Given the description of an element on the screen output the (x, y) to click on. 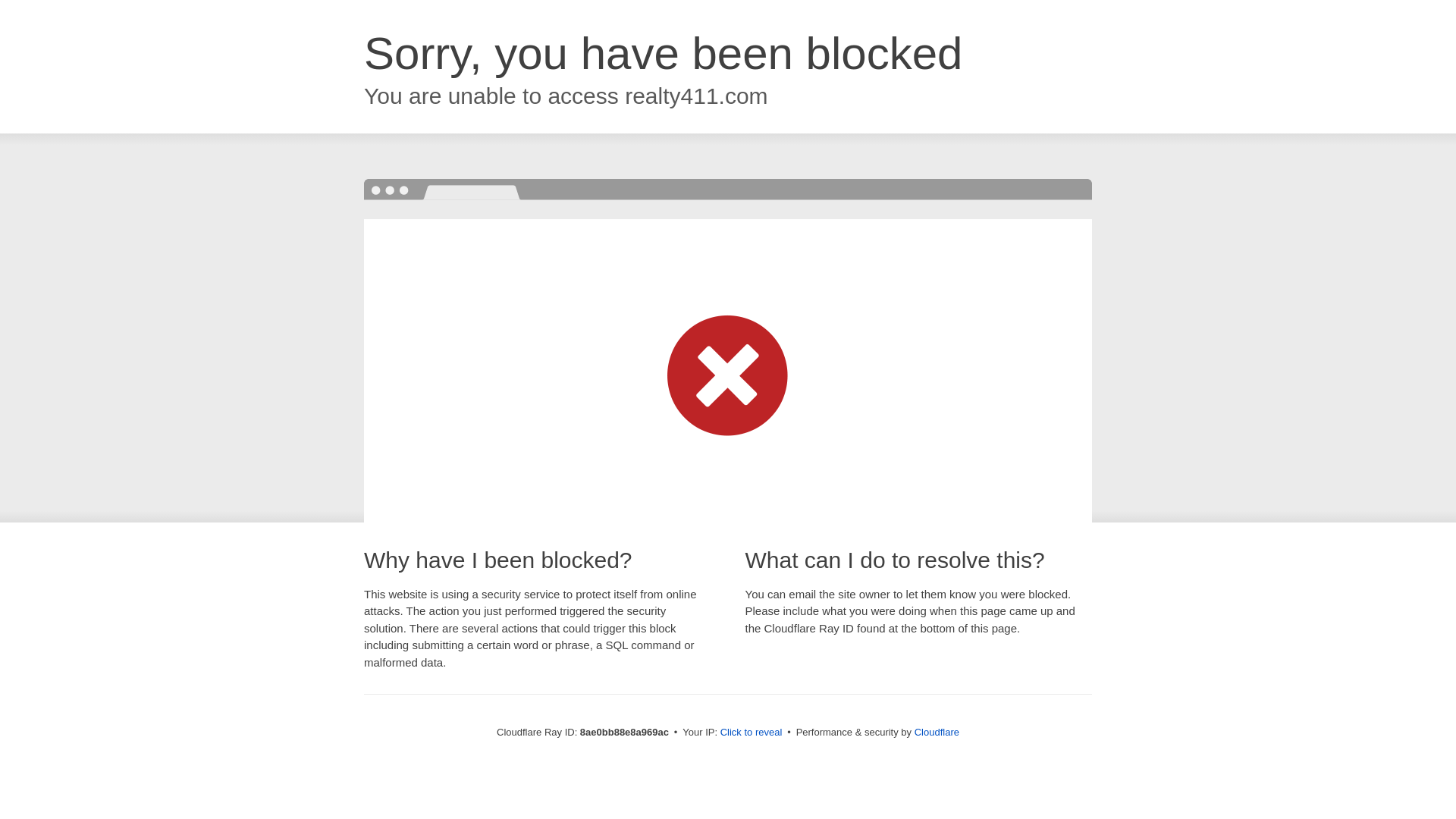
Cloudflare (936, 731)
Click to reveal (751, 732)
